Given the description of an element on the screen output the (x, y) to click on. 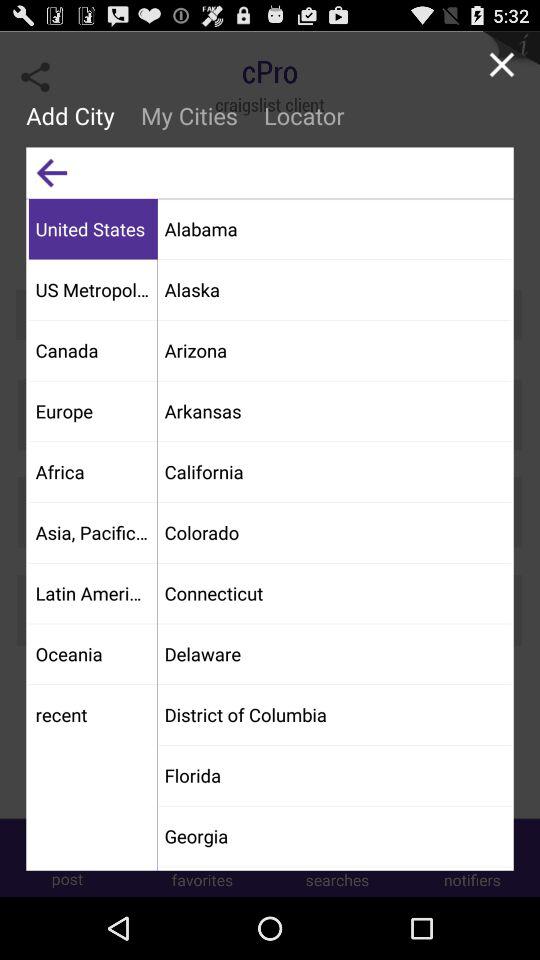
go back (51, 172)
